Given the description of an element on the screen output the (x, y) to click on. 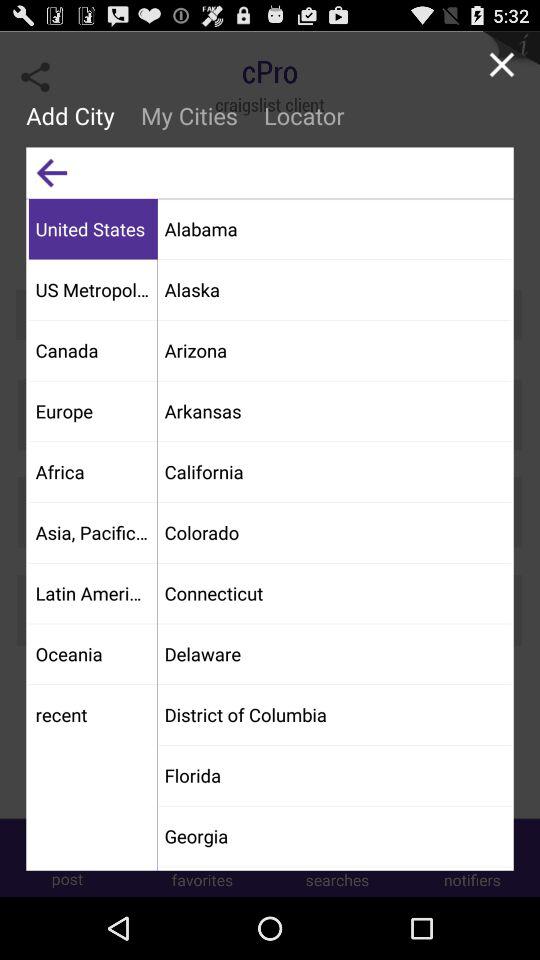
go back (51, 172)
